Given the description of an element on the screen output the (x, y) to click on. 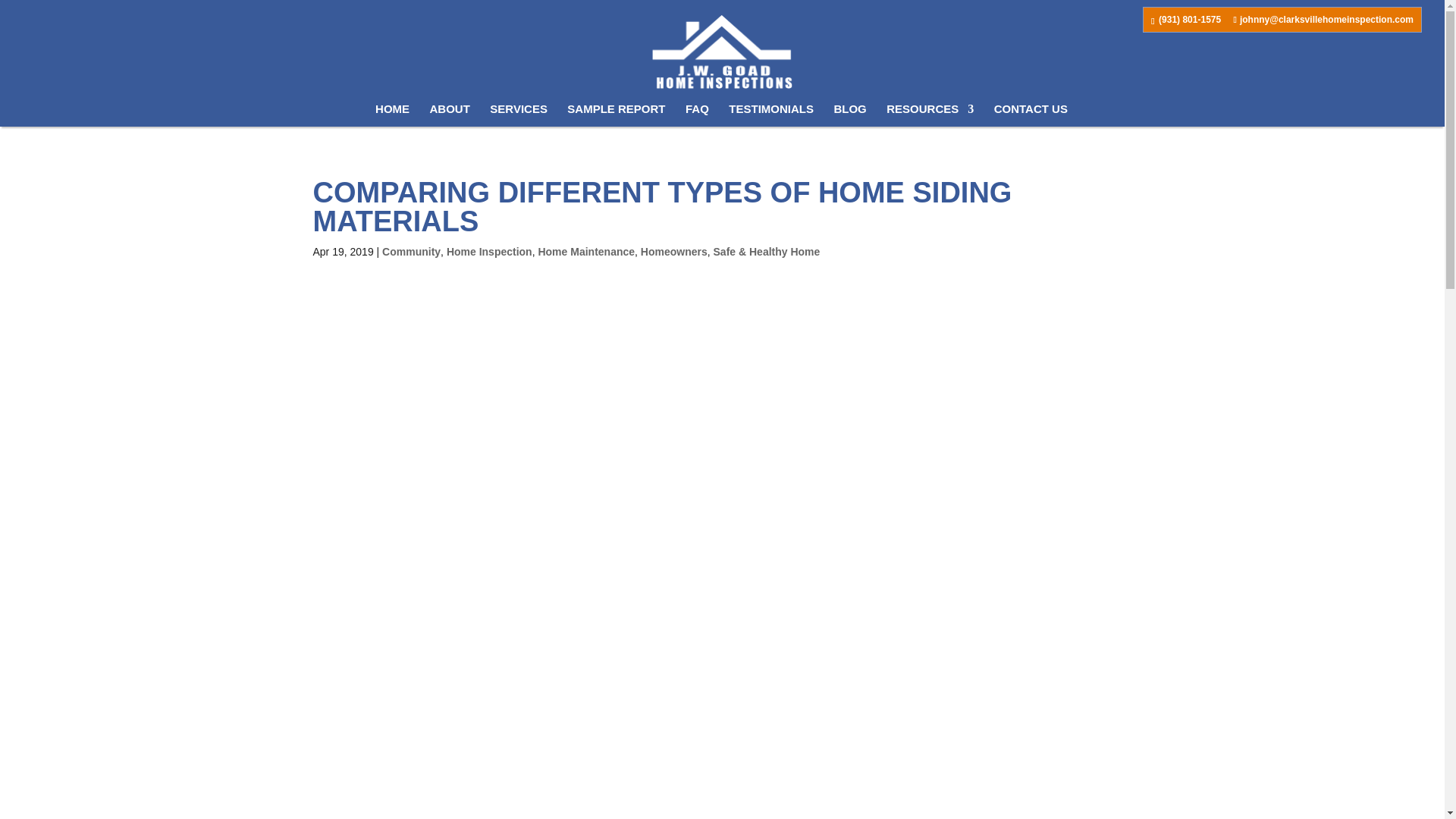
Home Maintenance (585, 251)
HOME (392, 115)
ABOUT (449, 115)
RESOURCES (930, 115)
SERVICES (518, 115)
SAMPLE REPORT (616, 115)
TESTIMONIALS (771, 115)
FAQ (697, 115)
Community (411, 251)
BLOG (849, 115)
Home Inspection (489, 251)
Homeowners (673, 251)
CONTACT US (1030, 115)
